Given the description of an element on the screen output the (x, y) to click on. 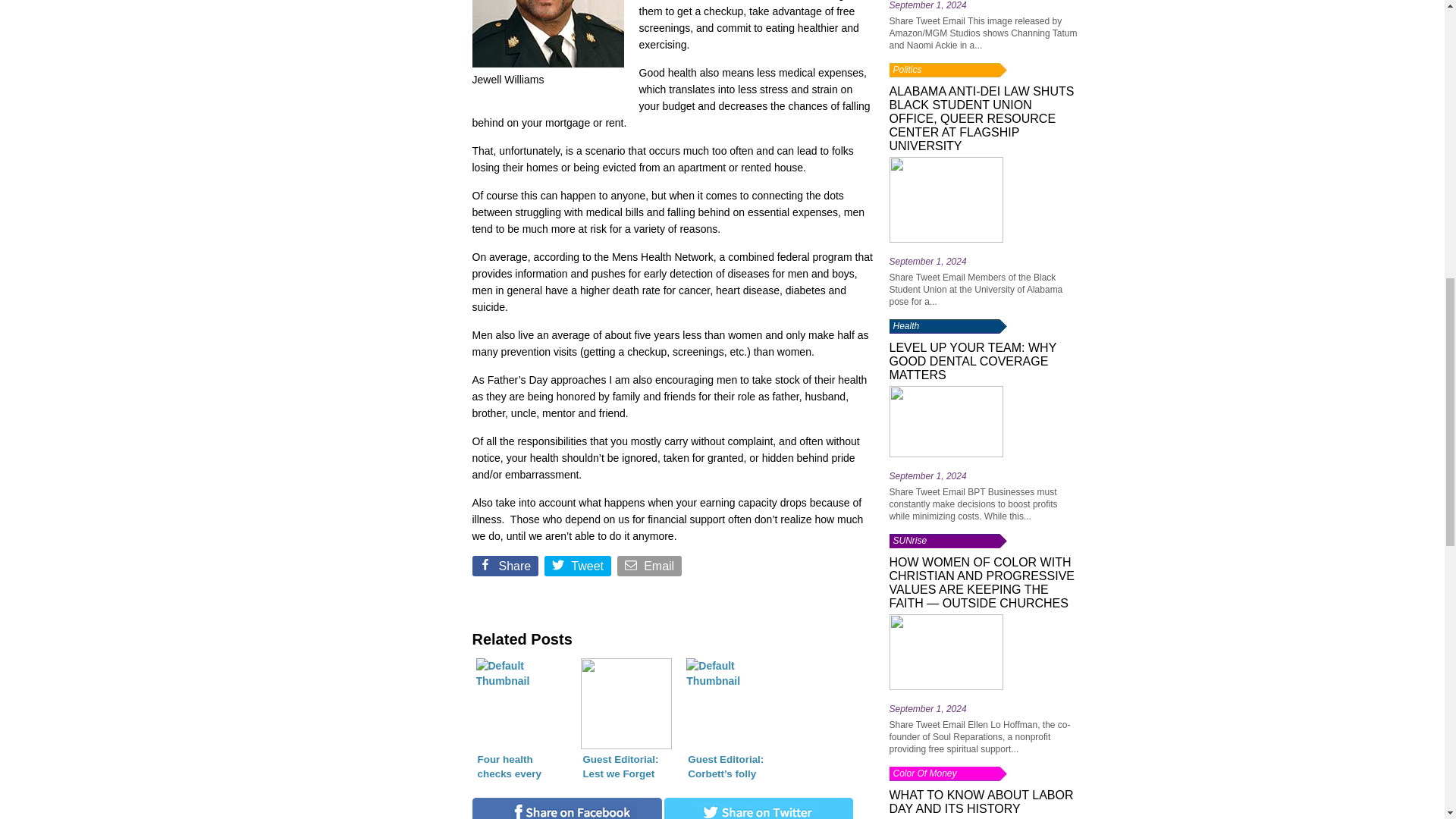
Tweet (578, 569)
Share (505, 569)
Email (650, 569)
Tweet (578, 569)
Share on Facebook (505, 569)
